Given the description of an element on the screen output the (x, y) to click on. 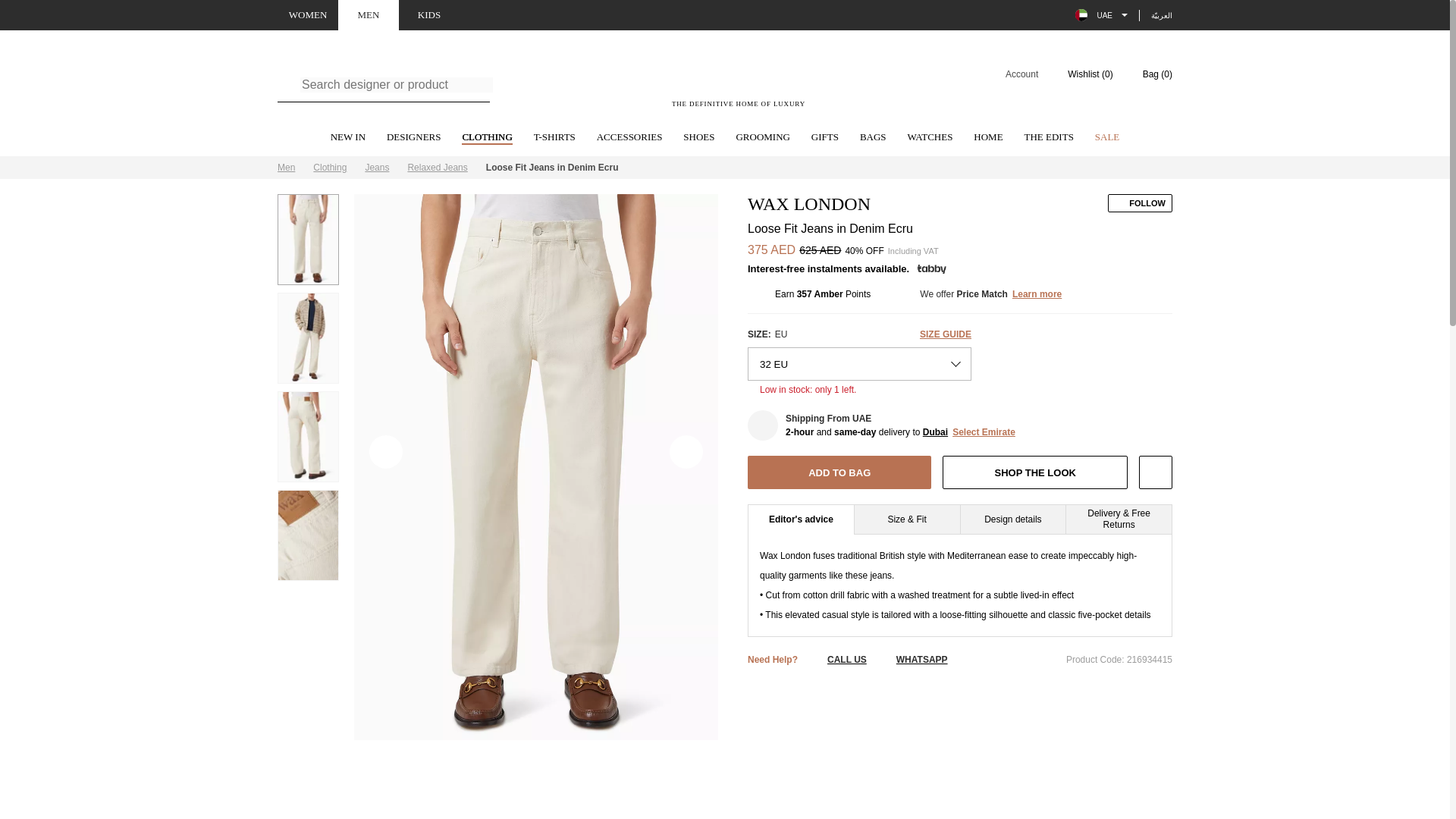
GROOMING (762, 137)
BAGS (873, 137)
HOME (988, 137)
SHOES (698, 137)
SALE (1106, 137)
NEW IN (347, 137)
THE DEFINITIVE HOME OF LUXURY (738, 83)
UAE (1101, 15)
T-SHIRTS (554, 137)
ACCESSORIES (629, 137)
